Given the description of an element on the screen output the (x, y) to click on. 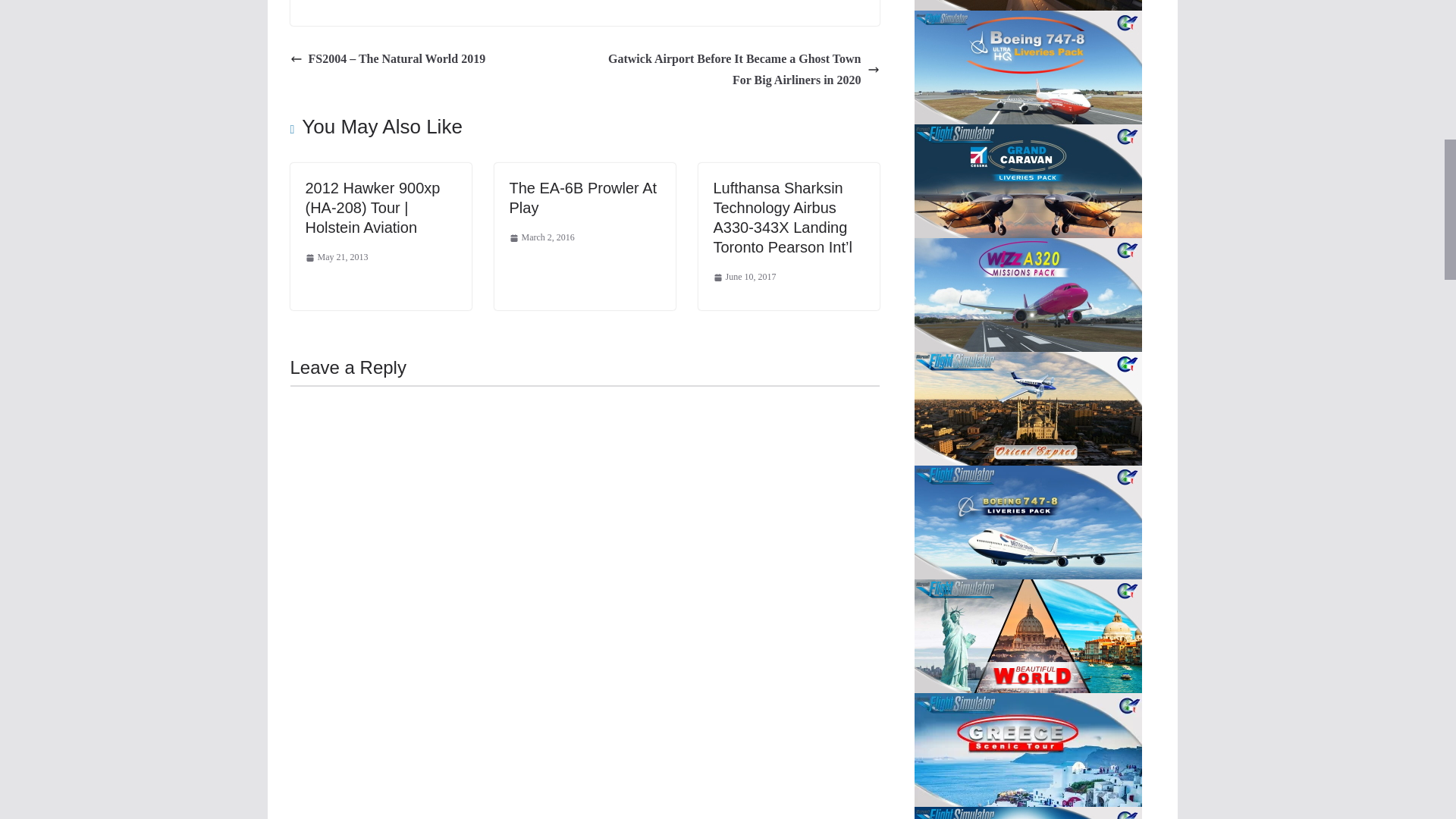
11:11 (336, 257)
09:07 (744, 277)
16:31 (542, 238)
The EA-6B Prowler At Play (583, 197)
